Given the description of an element on the screen output the (x, y) to click on. 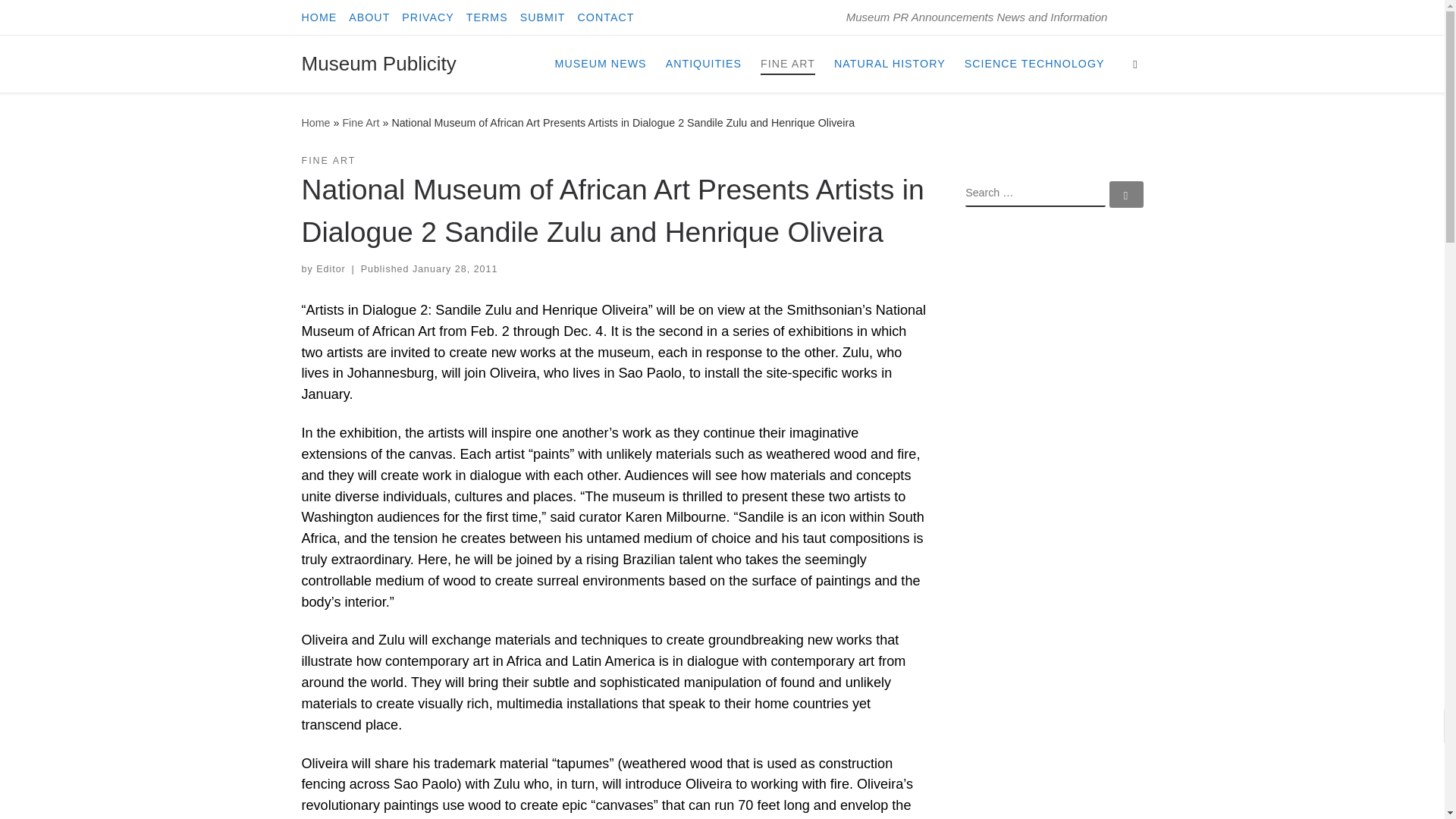
ABOUT (369, 17)
Fine Art (360, 122)
PRIVACY (427, 17)
MUSEUM NEWS (600, 63)
5:22 pm (454, 268)
FINE ART (328, 160)
CONTACT (606, 17)
Museum Publicity (315, 122)
FINE ART (787, 63)
HOME (319, 17)
Editor (330, 268)
TERMS (487, 17)
NATURAL HISTORY (889, 63)
Museum Publicity (379, 63)
January 28, 2011 (454, 268)
